Given the description of an element on the screen output the (x, y) to click on. 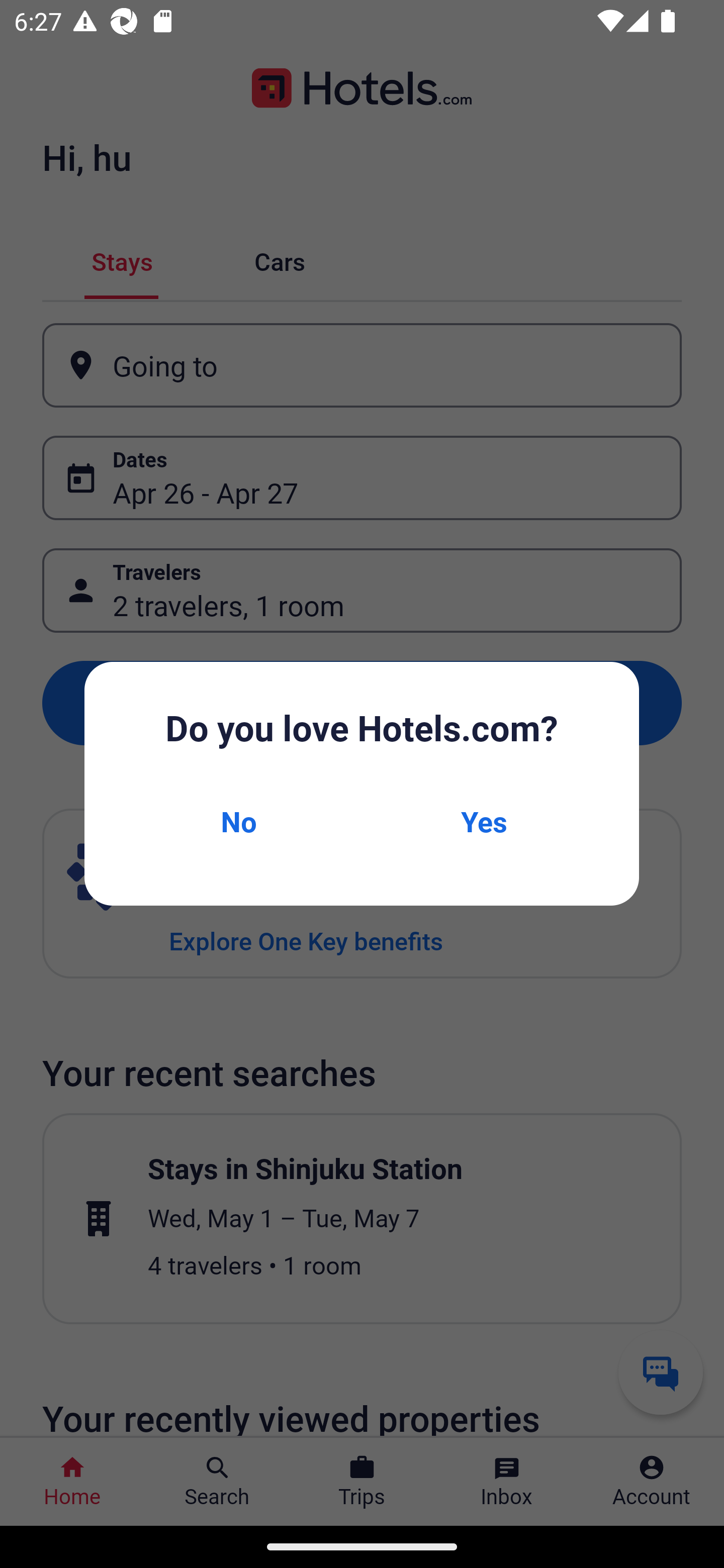
No (238, 821)
Yes (484, 821)
